Given the description of an element on the screen output the (x, y) to click on. 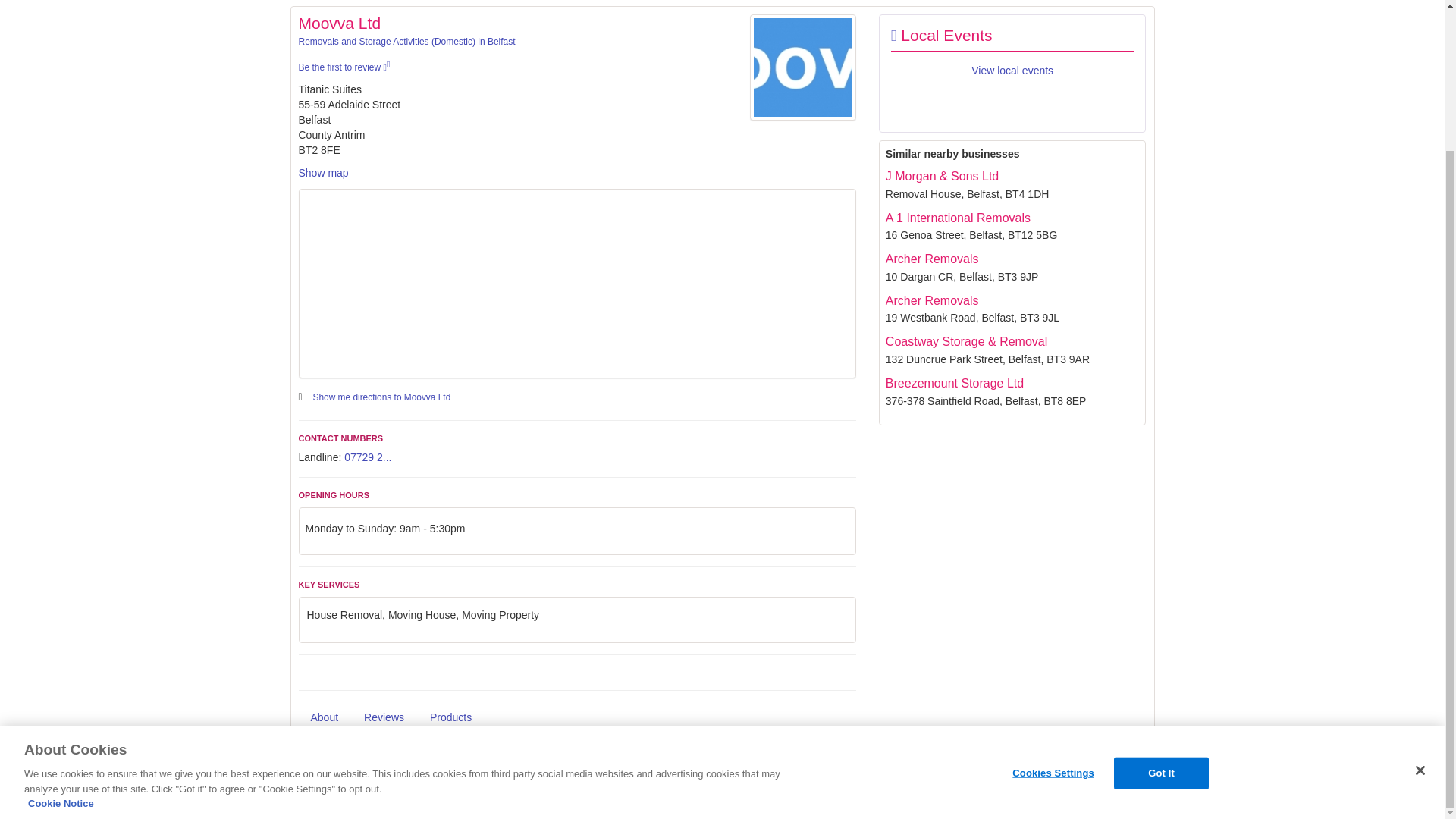
07729 2... (367, 457)
Products (450, 717)
Reviews (384, 717)
Reveal phone number (367, 457)
Review Moovva Ltd (344, 67)
A 1 International Removals (957, 217)
Show me directions to Moovva Ltd (382, 396)
Breezemount Storage Ltd (954, 382)
Archer Removals (931, 300)
The Scoot Network (351, 773)
View local events (1011, 70)
Show map (323, 173)
Archer Removals (931, 258)
Be the first to review (344, 67)
About (324, 717)
